Given the description of an element on the screen output the (x, y) to click on. 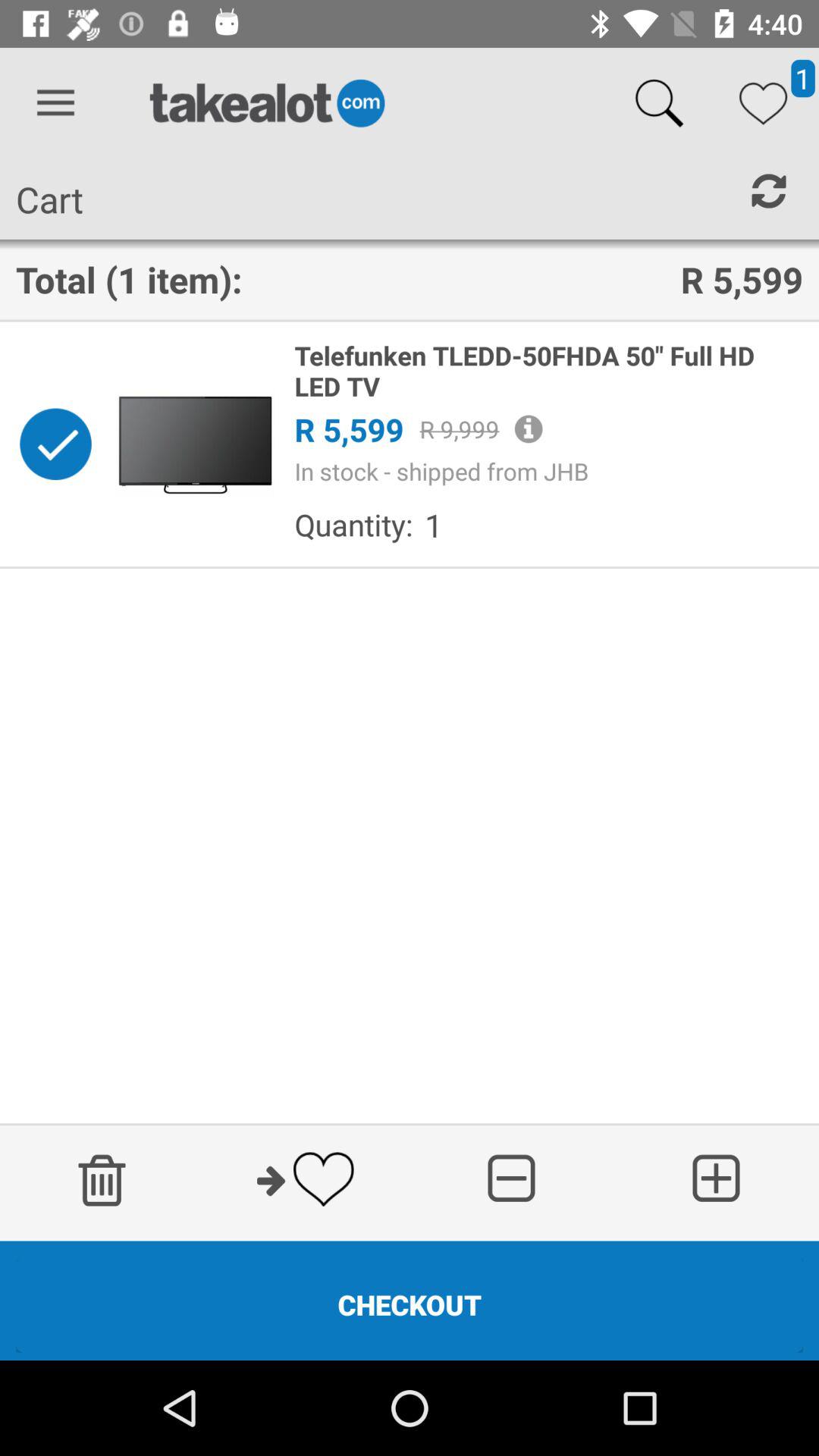
choose quantity: (353, 524)
